Given the description of an element on the screen output the (x, y) to click on. 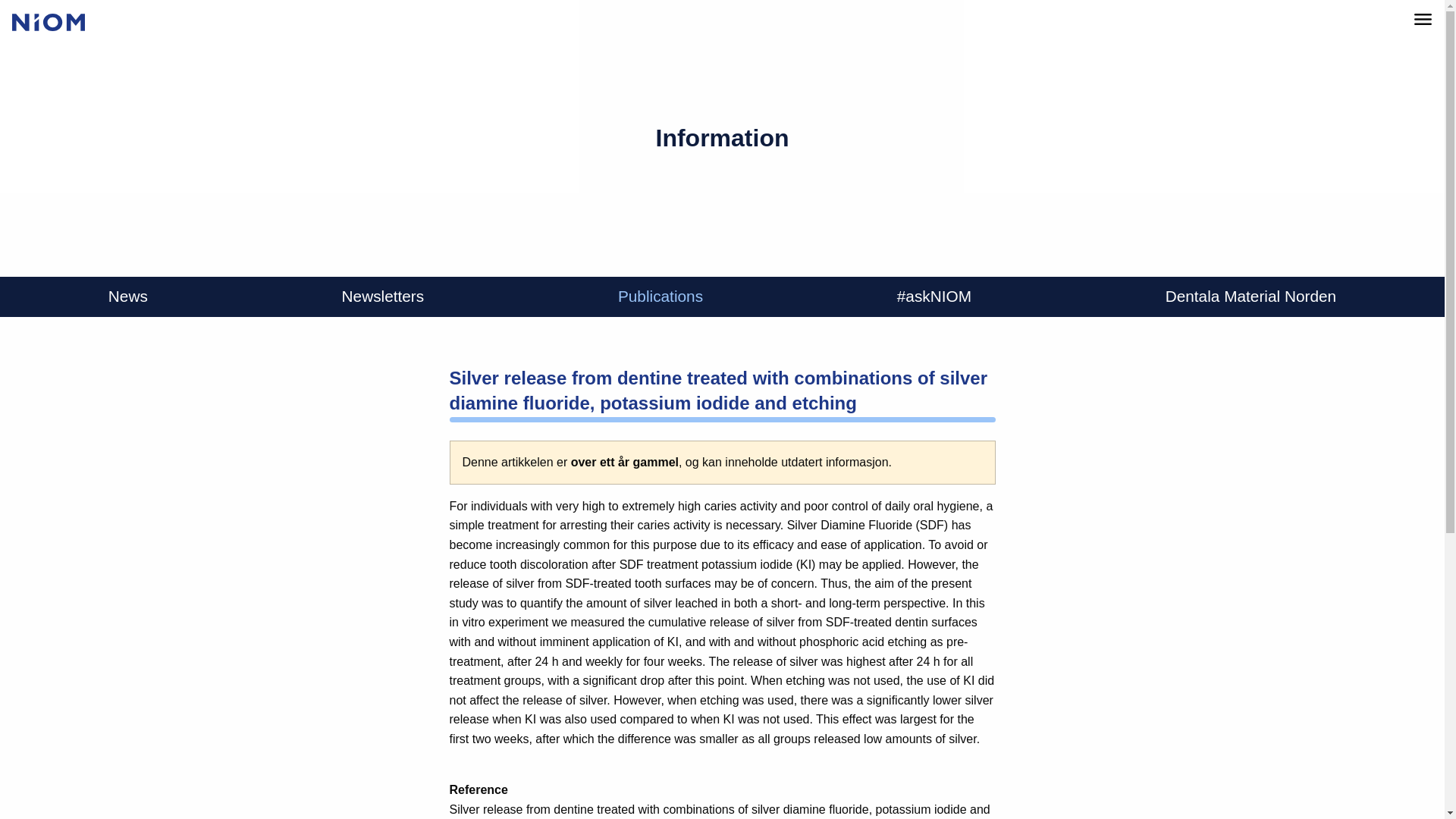
Publications (659, 296)
News (128, 296)
Newsletters (383, 296)
Dentala Material Norden (1250, 296)
